Given the description of an element on the screen output the (x, y) to click on. 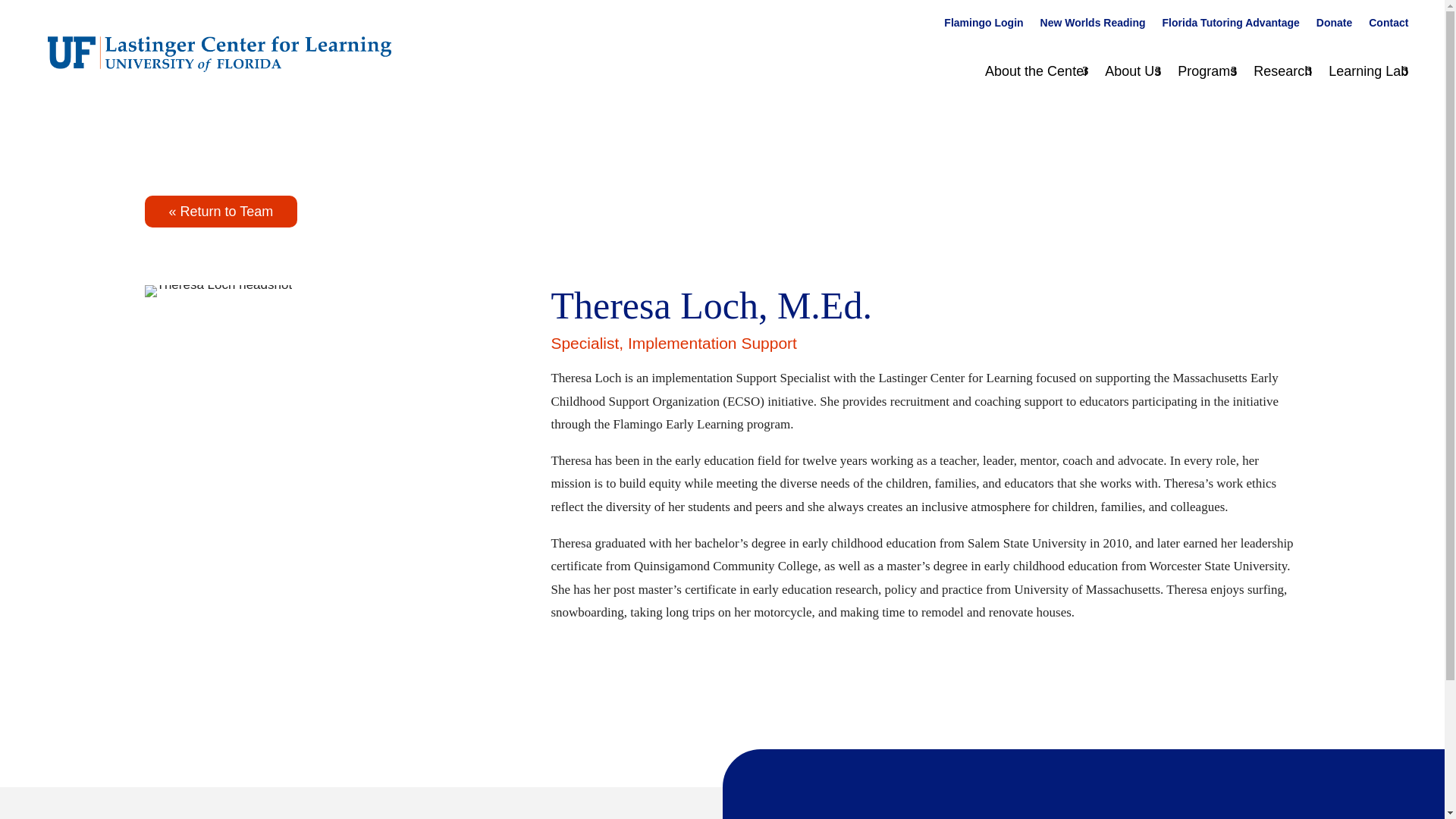
Donate (1334, 25)
Florida Tutoring Advantage (1230, 25)
Contact (1387, 25)
Flamingo Login (983, 25)
Theresa Loch (218, 291)
New Worlds Reading (1093, 25)
